Given the description of an element on the screen output the (x, y) to click on. 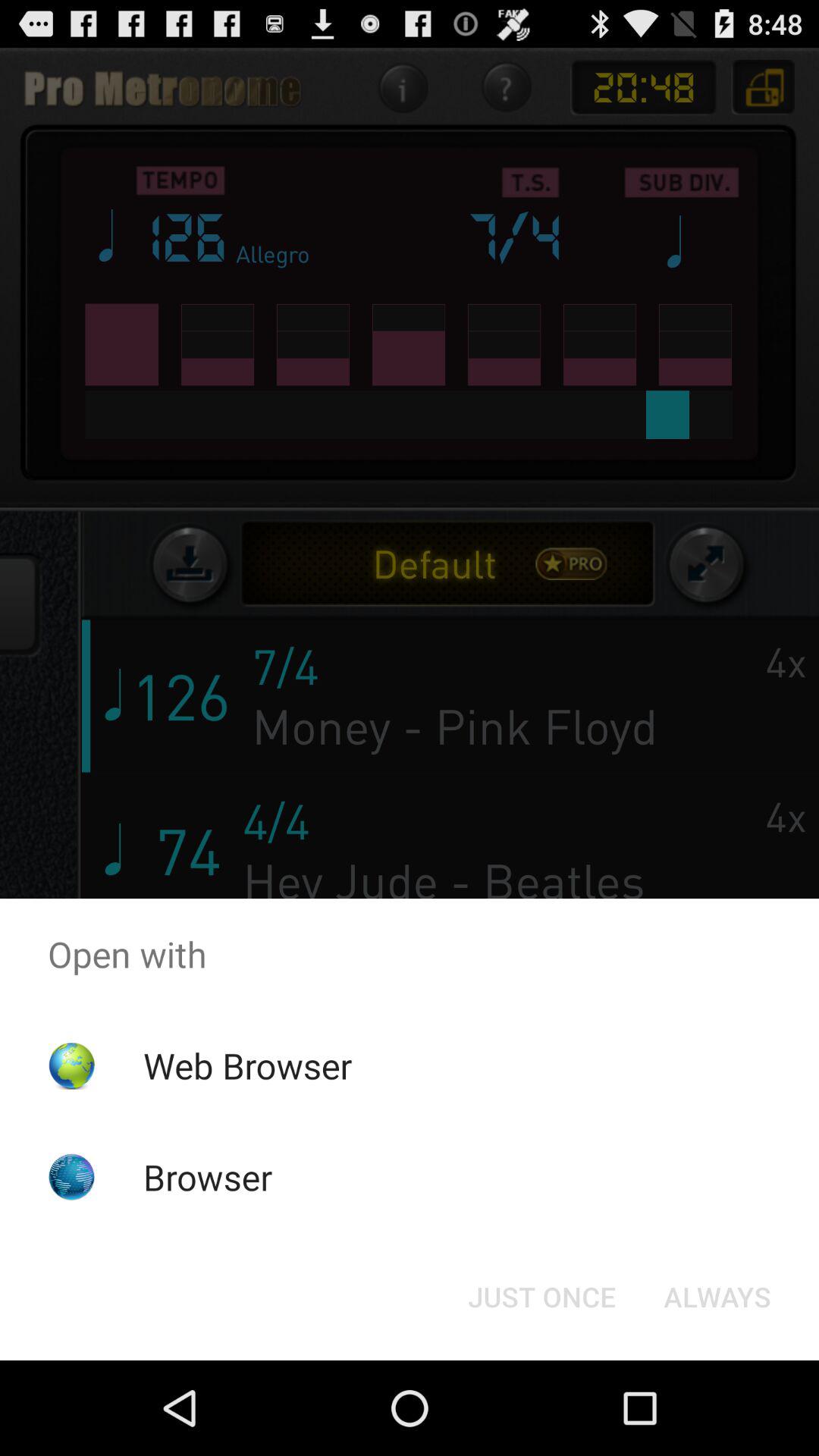
turn on the icon to the right of the just once (717, 1296)
